Given the description of an element on the screen output the (x, y) to click on. 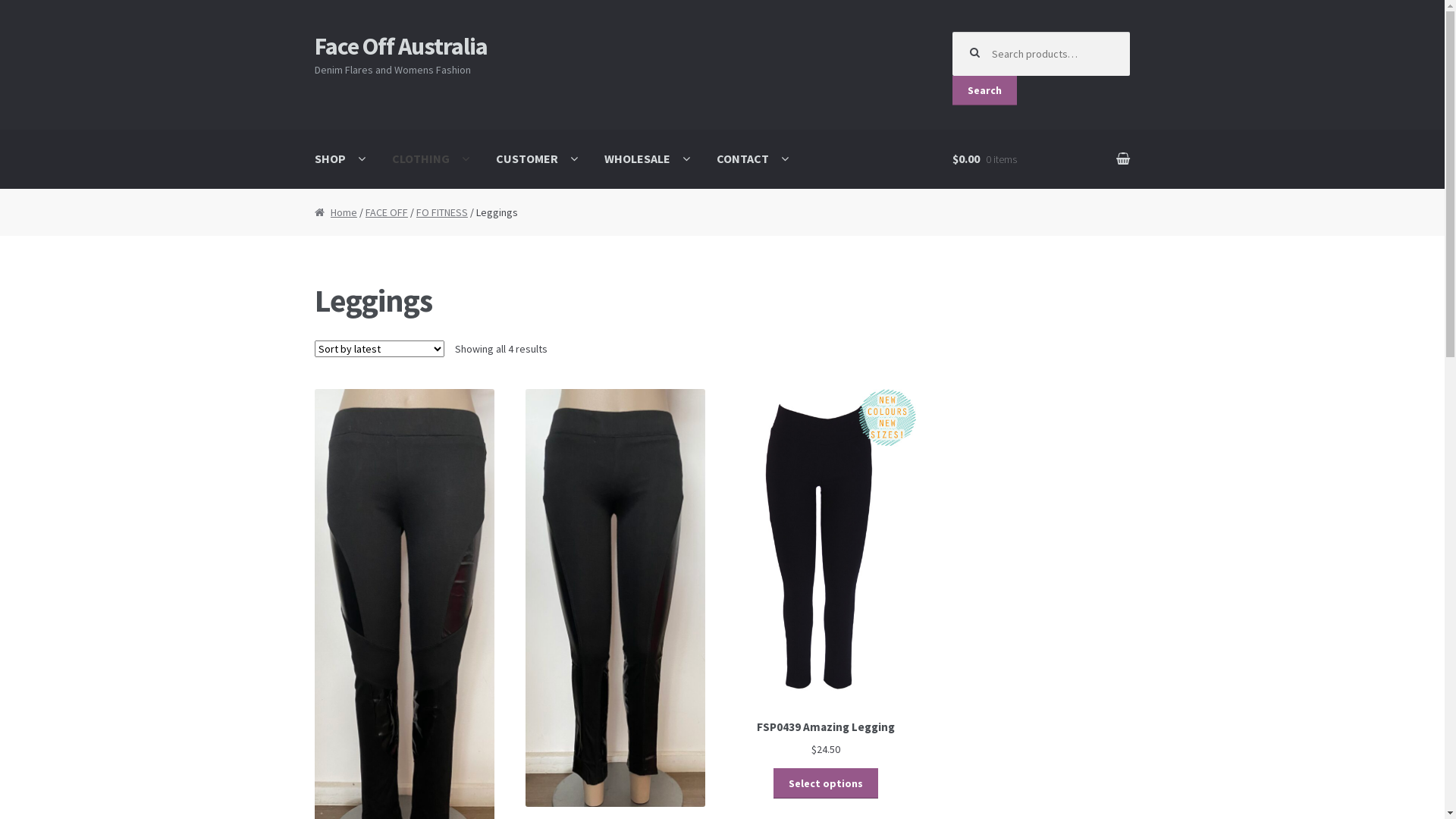
CONTACT Element type: text (752, 158)
FO FITNESS Element type: text (441, 212)
Home Element type: text (335, 212)
WHOLESALE Element type: text (647, 158)
FSP0439 Amazing Legging
$24.50 Element type: text (826, 573)
Search Element type: text (984, 90)
Face Off Australia Element type: text (400, 46)
Select options Element type: text (825, 783)
$0.00 0 items Element type: text (1040, 158)
Skip to navigation Element type: text (313, 31)
SHOP Element type: text (339, 158)
CUSTOMER Element type: text (536, 158)
CLOTHING Element type: text (430, 158)
FACE OFF Element type: text (386, 212)
